Given the description of an element on the screen output the (x, y) to click on. 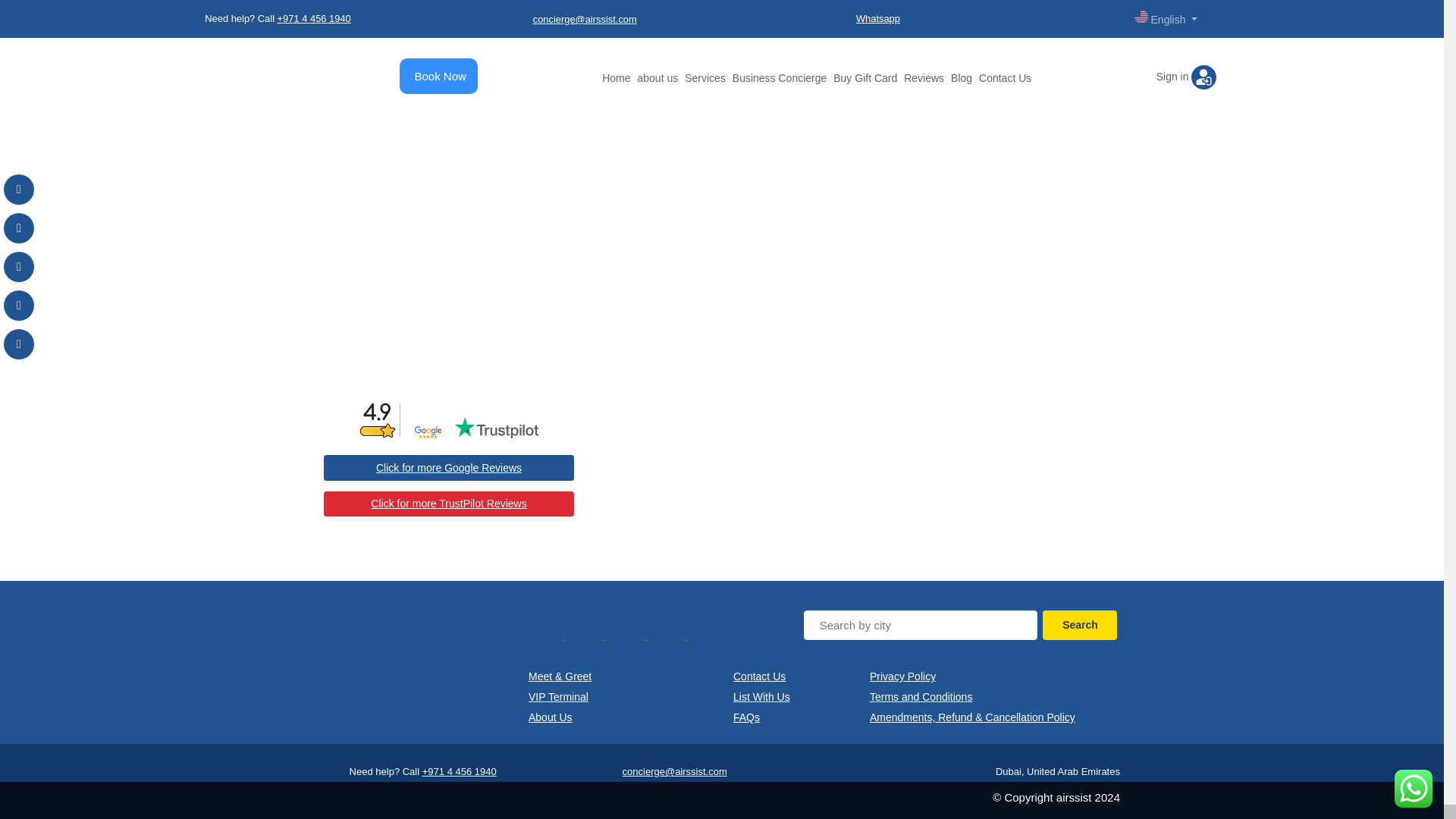
Search (1079, 624)
